Given the description of an element on the screen output the (x, y) to click on. 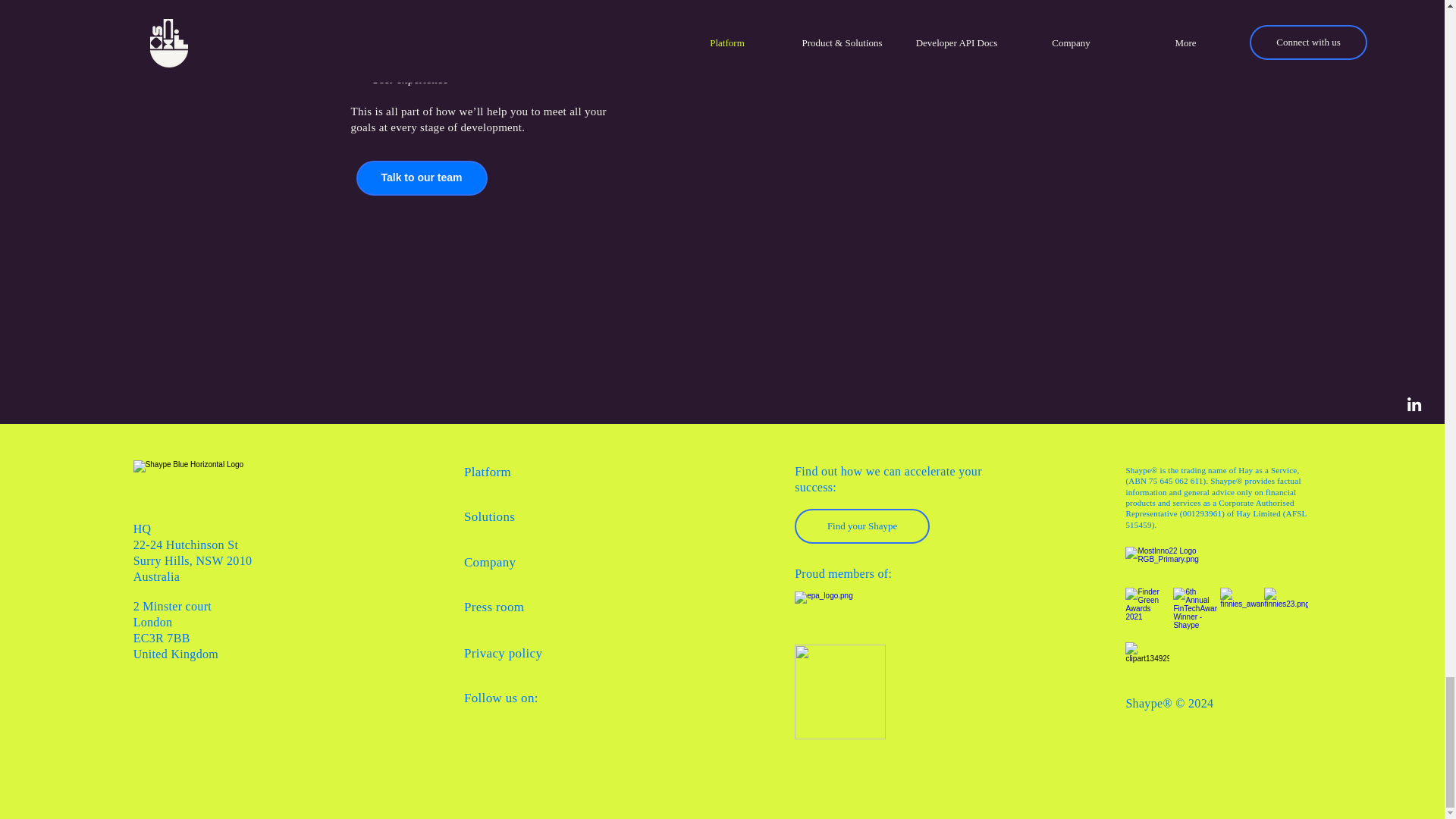
Talk to our team (421, 177)
Platform (487, 472)
